Given the description of an element on the screen output the (x, y) to click on. 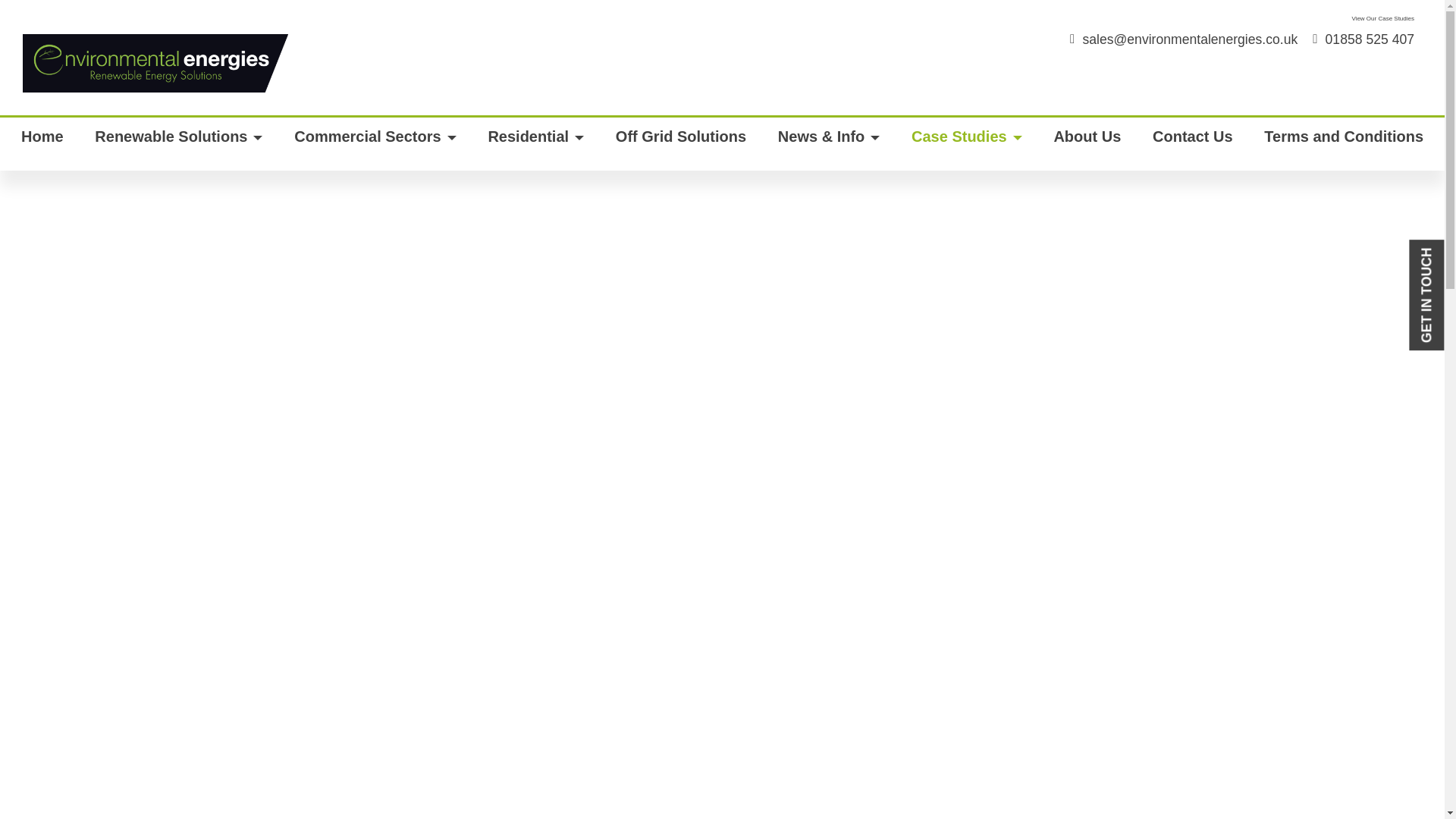
Residential (535, 143)
Off Grid Solutions (681, 143)
Commercial Sectors (374, 143)
Renewable Solutions (177, 143)
01858 525 407 (1363, 39)
Case Studies (966, 143)
Home (41, 143)
Renewable Solutions (177, 143)
Commercial Sectors (374, 143)
Home (41, 143)
